Given the description of an element on the screen output the (x, y) to click on. 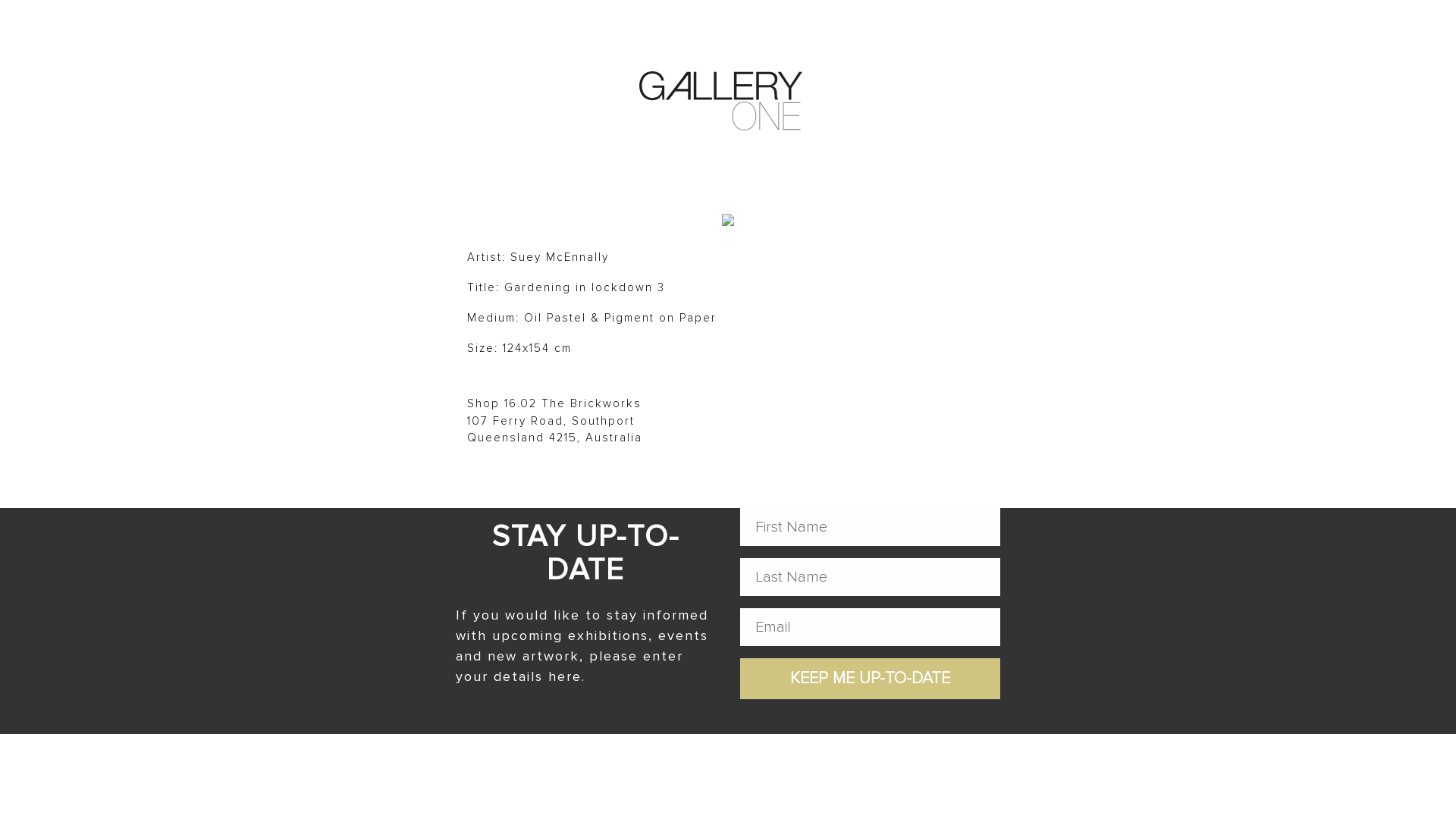
Keep me up-to-date Element type: text (870, 678)
